Given the description of an element on the screen output the (x, y) to click on. 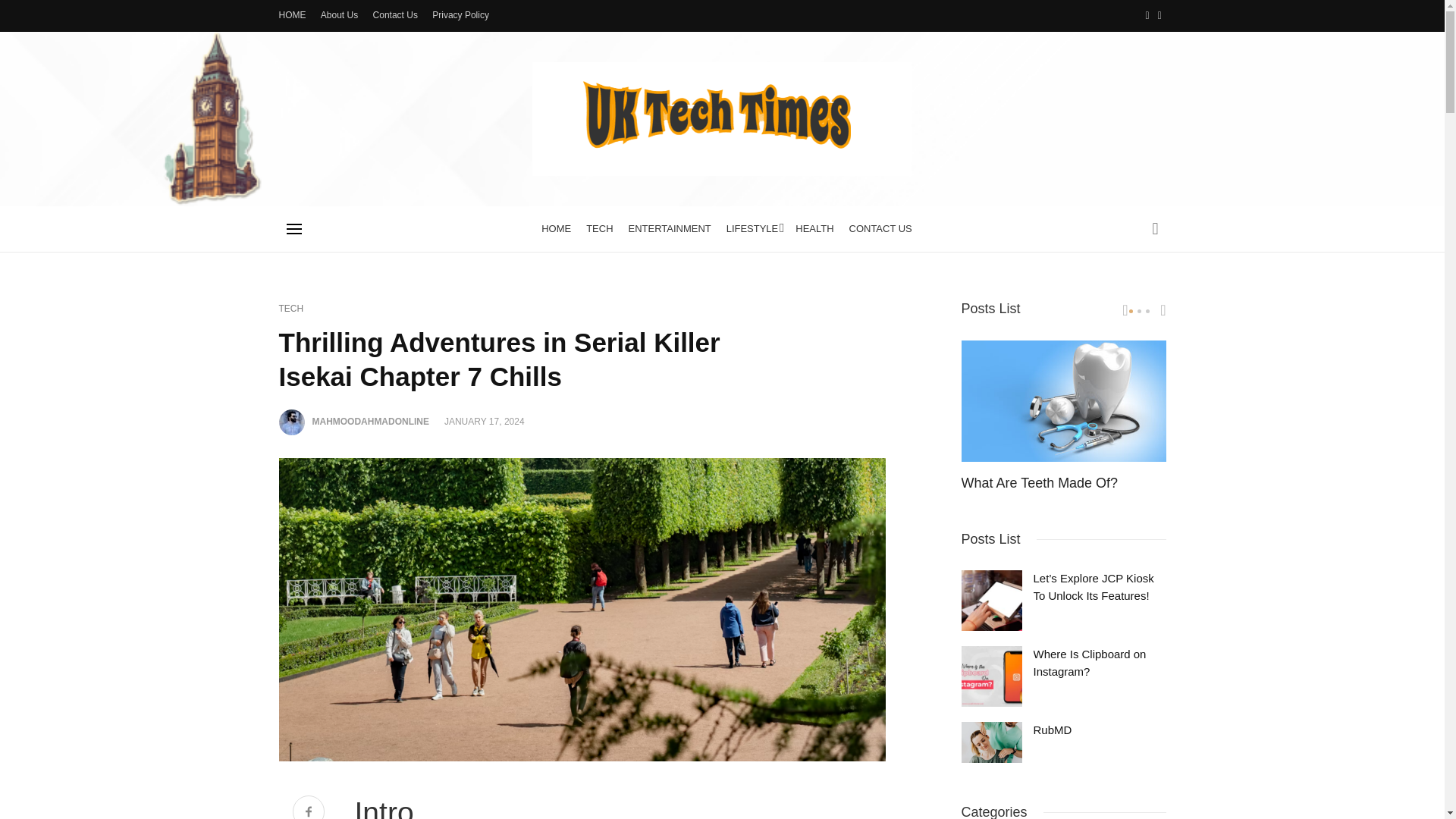
HOME (293, 14)
January 17, 2024 at 12:45 am (484, 421)
ENTERTAINMENT (670, 228)
Contact Us (394, 14)
TECH (291, 308)
HOME (556, 228)
MAHMOODAHMADONLINE (371, 421)
CONTACT US (880, 228)
LIFESTYLE (754, 228)
TECH (599, 228)
HEALTH (814, 228)
About Us (339, 14)
Privacy Policy (460, 14)
Share on Facebook (308, 807)
